Given the description of an element on the screen output the (x, y) to click on. 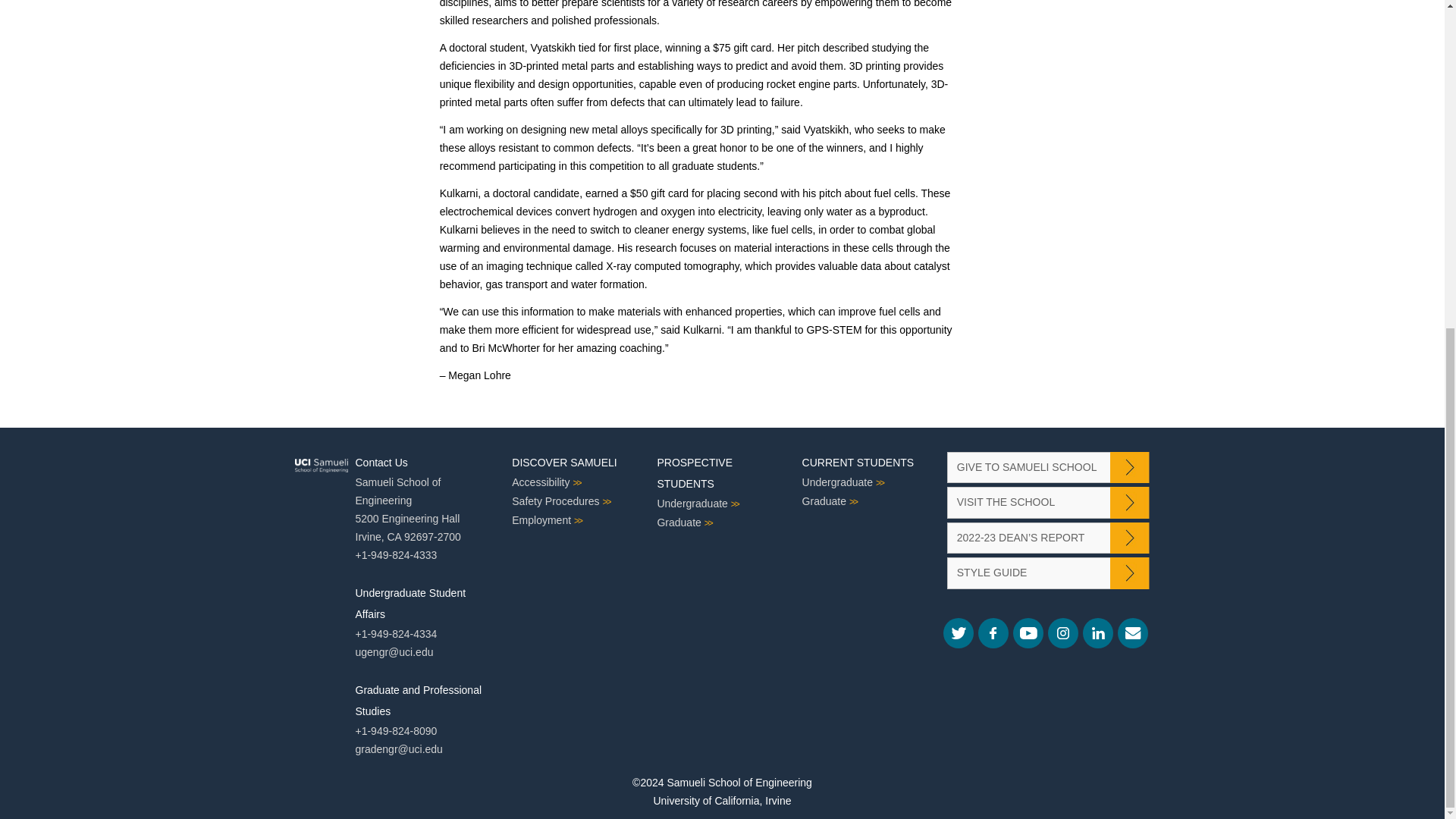
Follow Samueli School of Engineering at UC Irvine on Mail (1133, 633)
Follow Samueli School of Engineering at UC Irvine on YouTube (1028, 633)
Follow Samueli School of Engineering at UC Irvine on Twitter (958, 633)
